Given the description of an element on the screen output the (x, y) to click on. 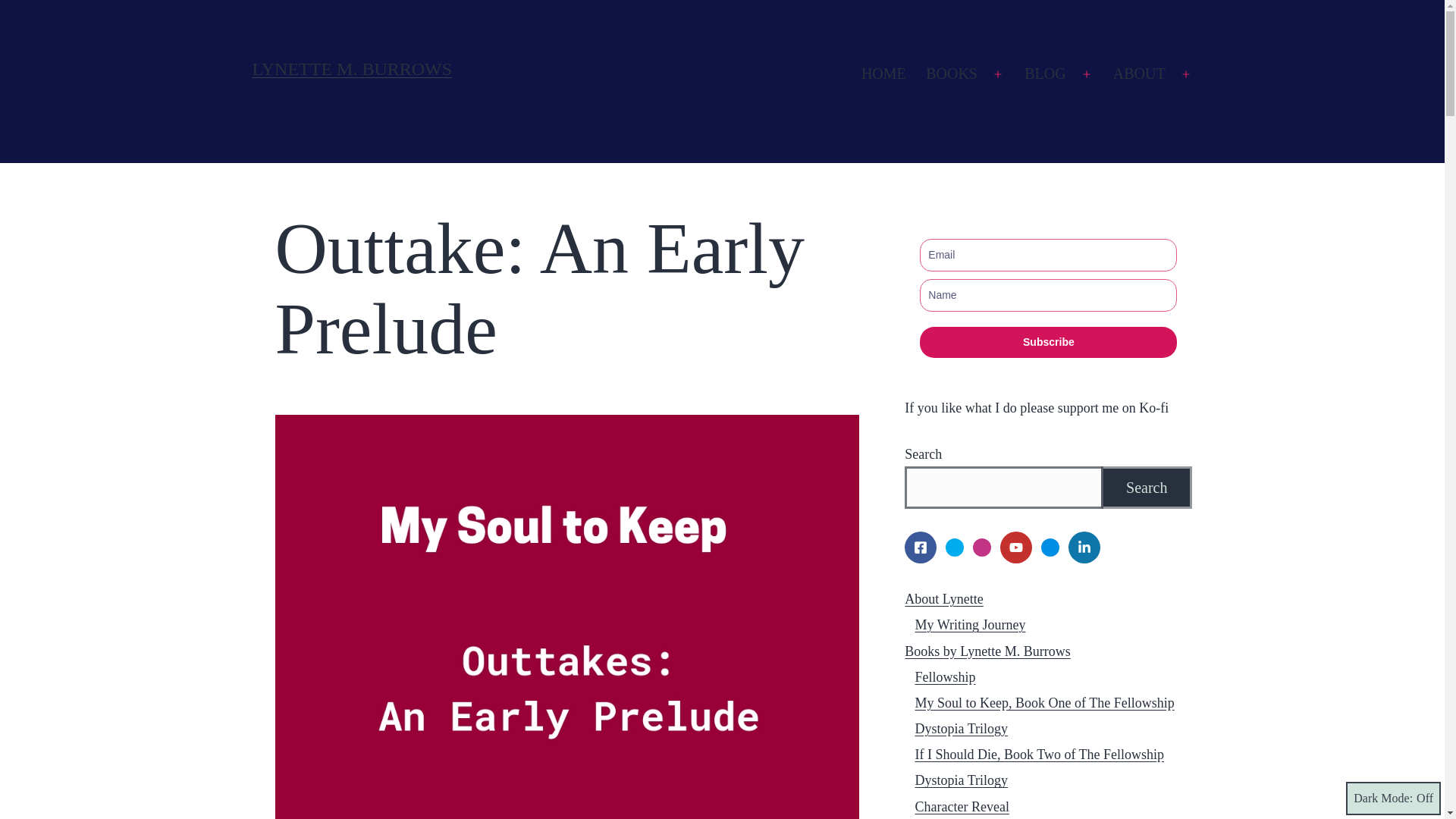
BOOKS (951, 74)
LYNETTE M. BURROWS (351, 68)
HOME (883, 74)
BLOG (1044, 74)
ABOUT (1138, 74)
